Given the description of an element on the screen output the (x, y) to click on. 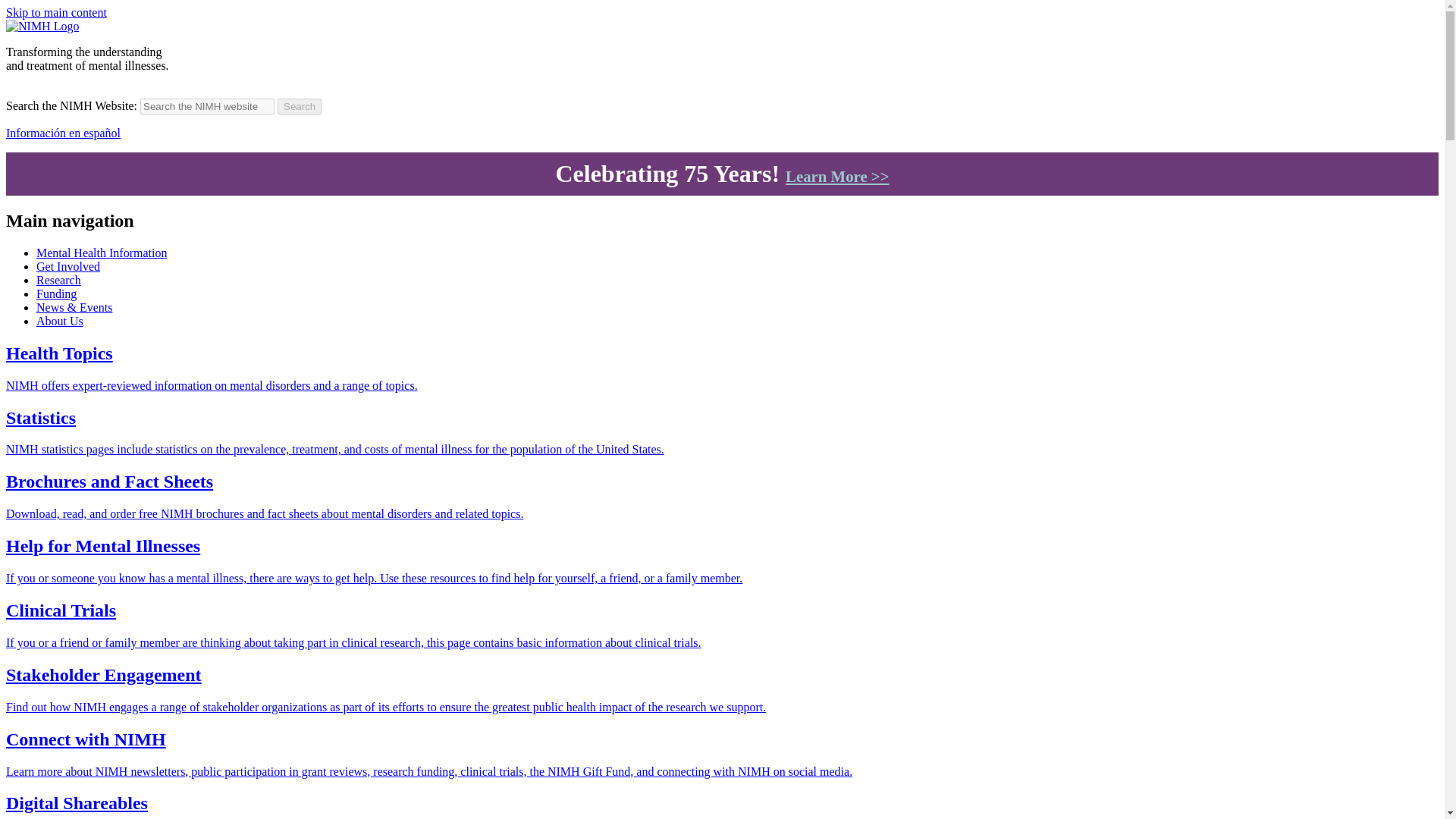
Funding (56, 293)
Search (299, 106)
Search (299, 106)
NIMH Home (41, 25)
About Us (59, 320)
Research (58, 279)
Get Involved (68, 266)
Mental Health Information (101, 252)
Skip to main content (55, 11)
